Given the description of an element on the screen output the (x, y) to click on. 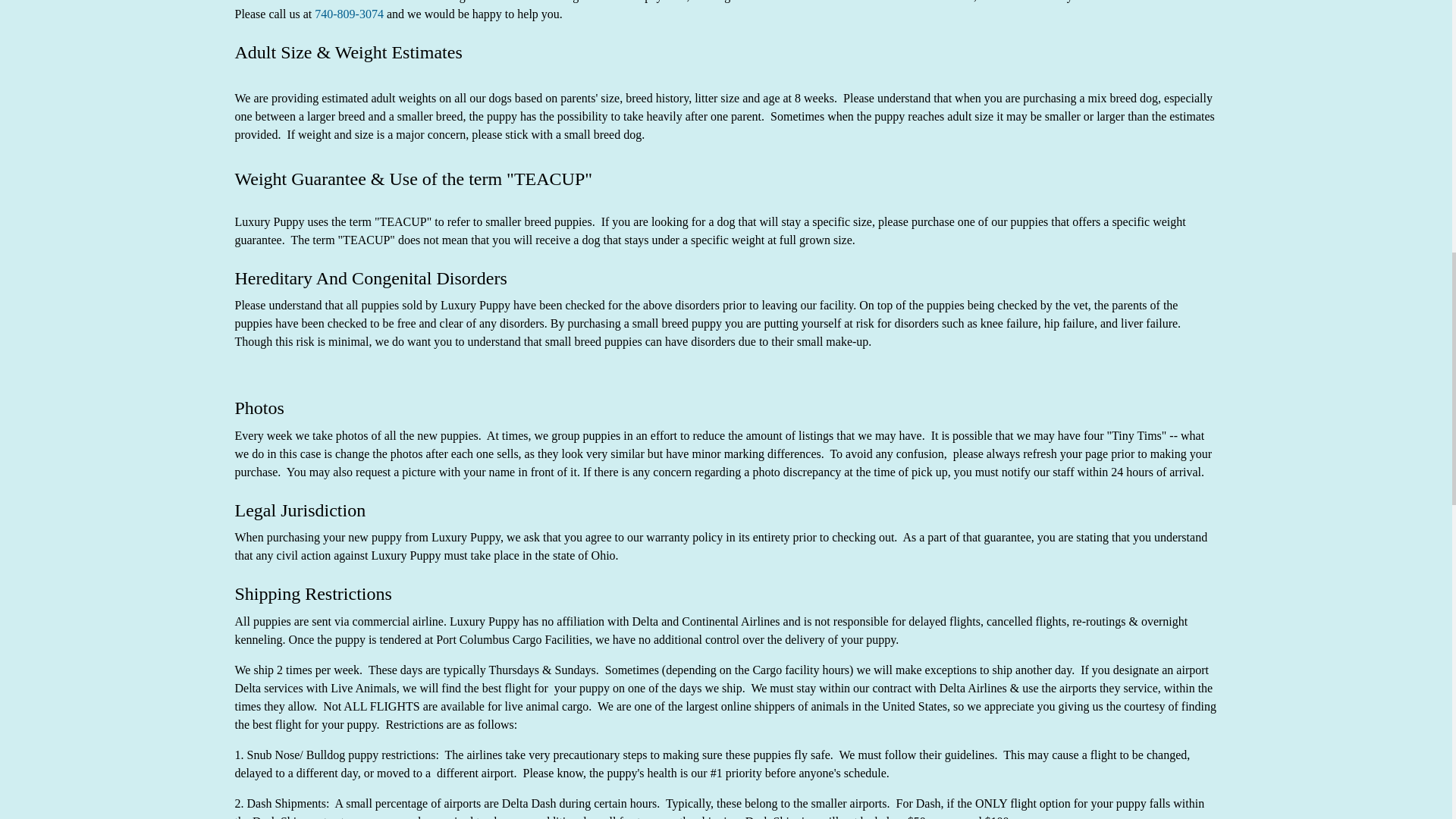
740-809-3074 (349, 13)
